Given the description of an element on the screen output the (x, y) to click on. 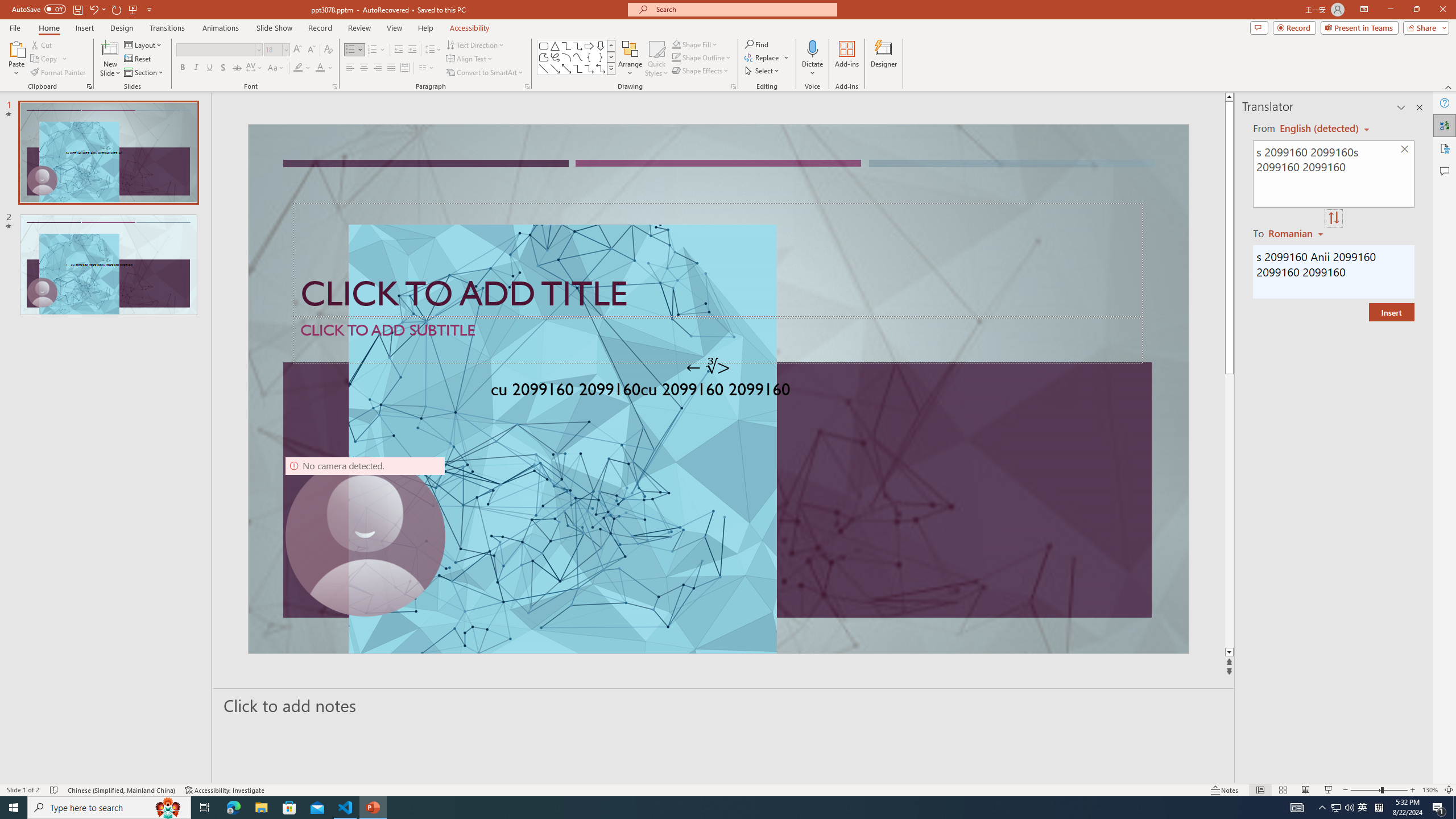
TextBox 61 (716, 391)
Czech (detected) (1319, 128)
Subtitle TextBox (717, 339)
